Given the description of an element on the screen output the (x, y) to click on. 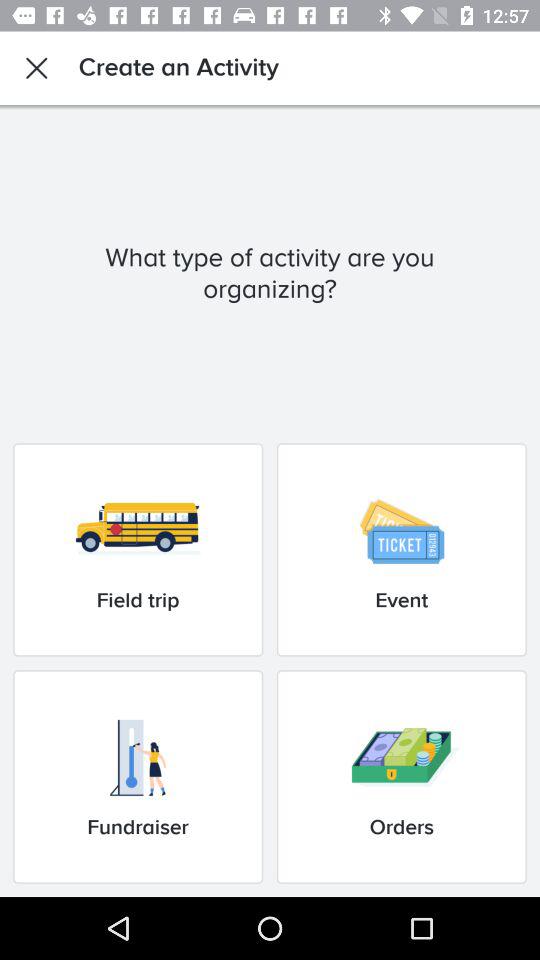
open item above what type of (36, 68)
